Given the description of an element on the screen output the (x, y) to click on. 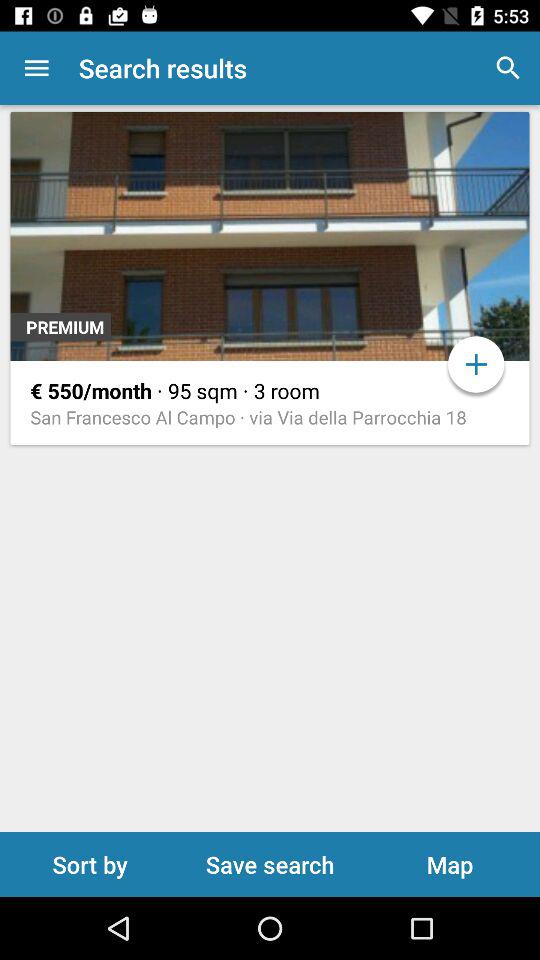
launch the item to the right of the search results item (508, 67)
